Given the description of an element on the screen output the (x, y) to click on. 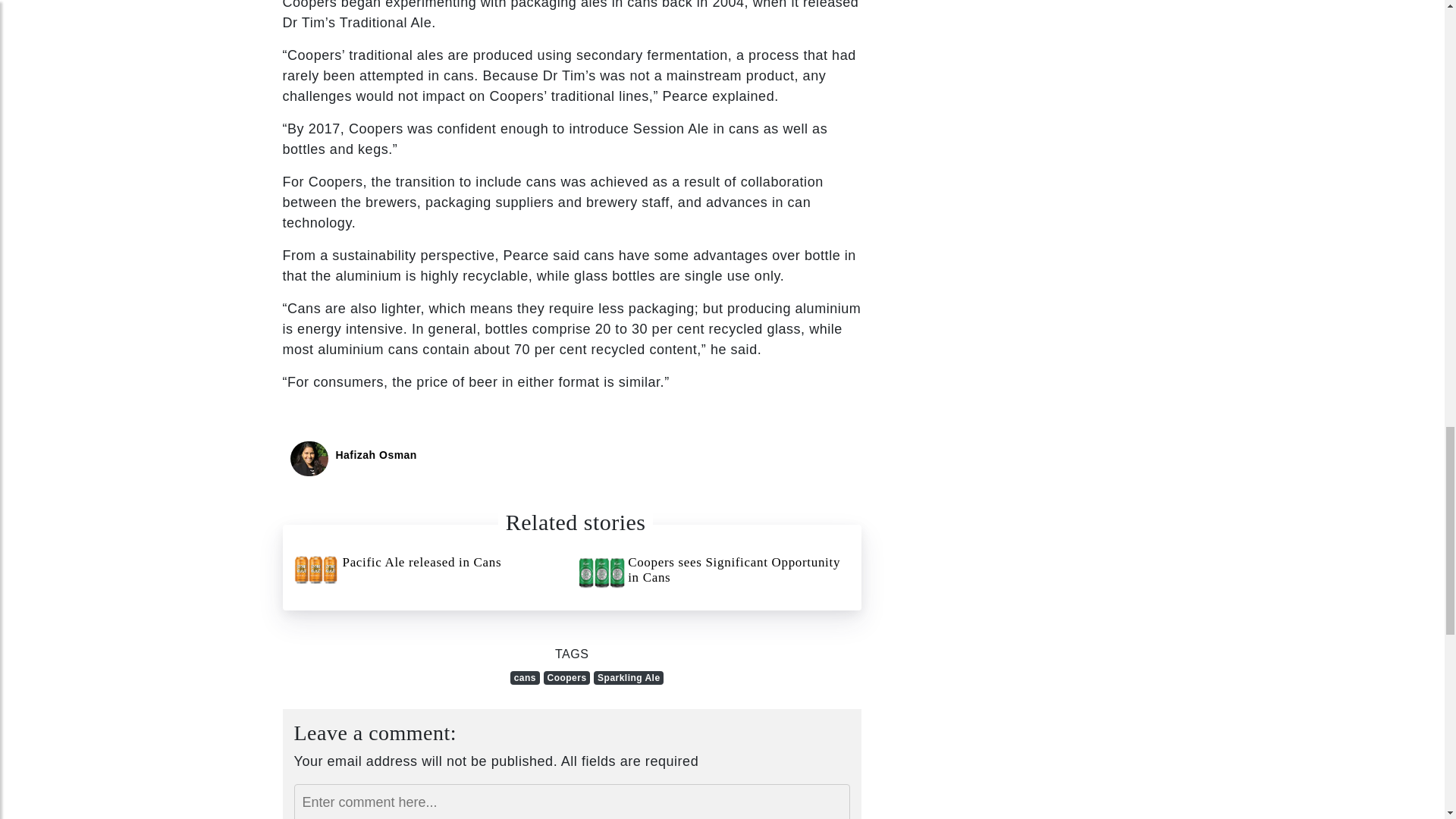
Pacific Ale released in Cans (429, 569)
Hafizah Osman (375, 454)
Coopers sees Significant Opportunity in Cans (714, 573)
Coopers (567, 677)
cans (525, 677)
Sparkling Ale (628, 677)
